Given the description of an element on the screen output the (x, y) to click on. 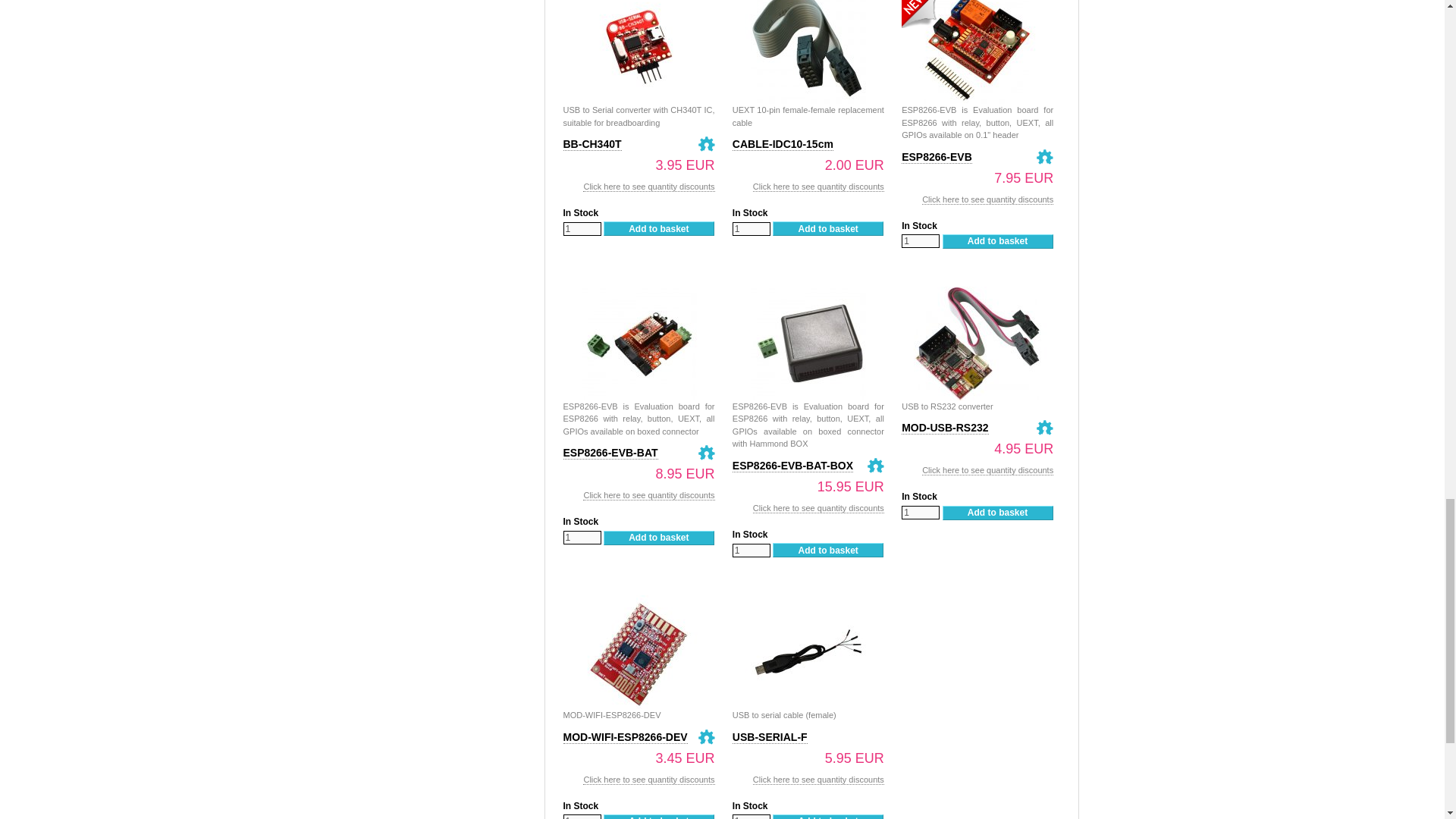
1 (580, 228)
Open Source Hardware (705, 143)
1 (580, 537)
1 (580, 816)
USB to RS232 converter (976, 294)
MOD-WIFI-ESP8266-DEV (638, 603)
1 (751, 816)
CABLE-IDC10-15cm (782, 144)
1 (751, 228)
